Given the description of an element on the screen output the (x, y) to click on. 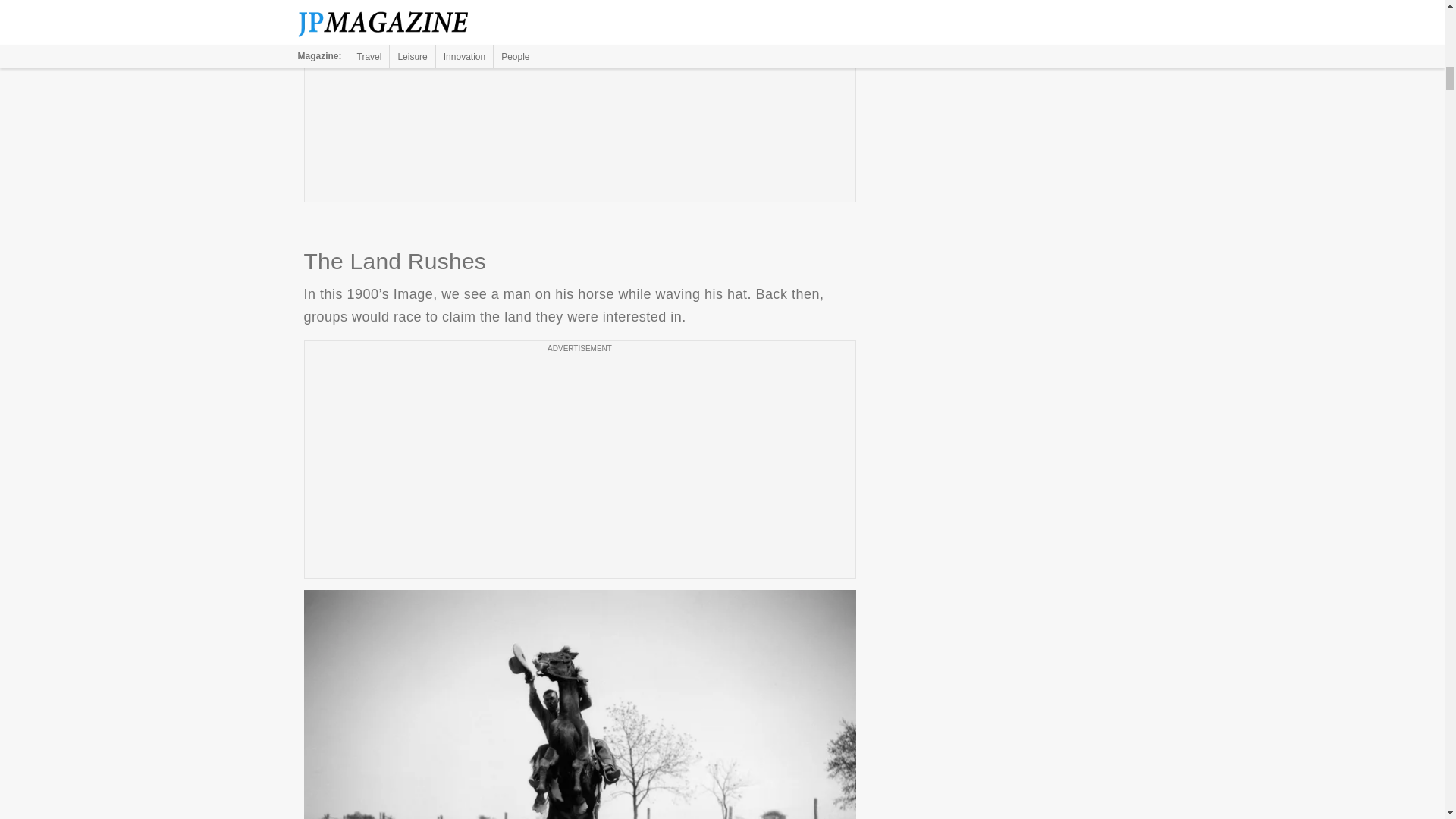
The Land Rushes (579, 704)
